Given the description of an element on the screen output the (x, y) to click on. 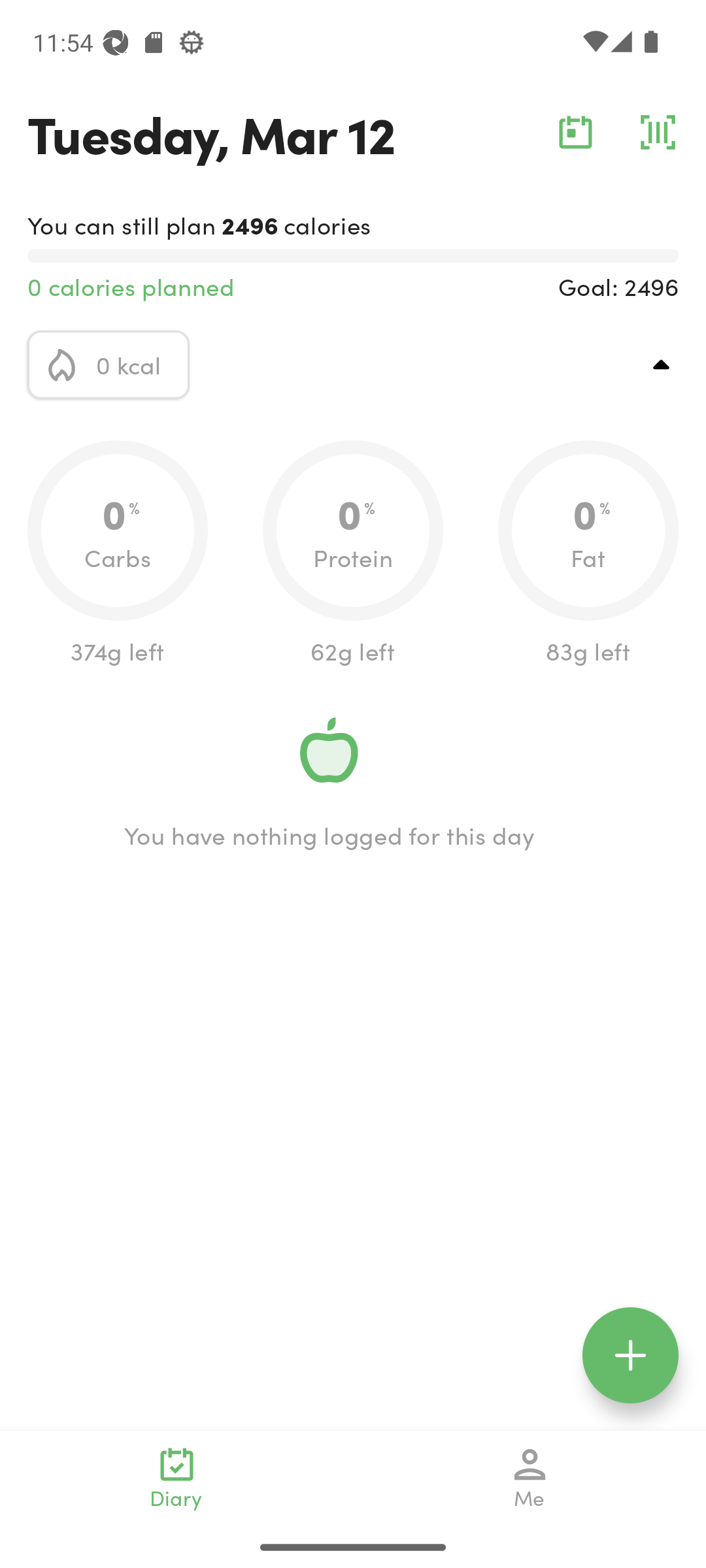
calendar_action (575, 132)
barcode_action (658, 132)
calorie_icon 0 kcal (108, 365)
top_right_action (661, 365)
0.0 0 % Carbs 374g left (117, 553)
0.0 0 % Protein 62g left (352, 553)
0.0 0 % Fat 83g left (588, 553)
floating_action_icon (630, 1355)
Me navigation_icon (529, 1478)
